Given the description of an element on the screen output the (x, y) to click on. 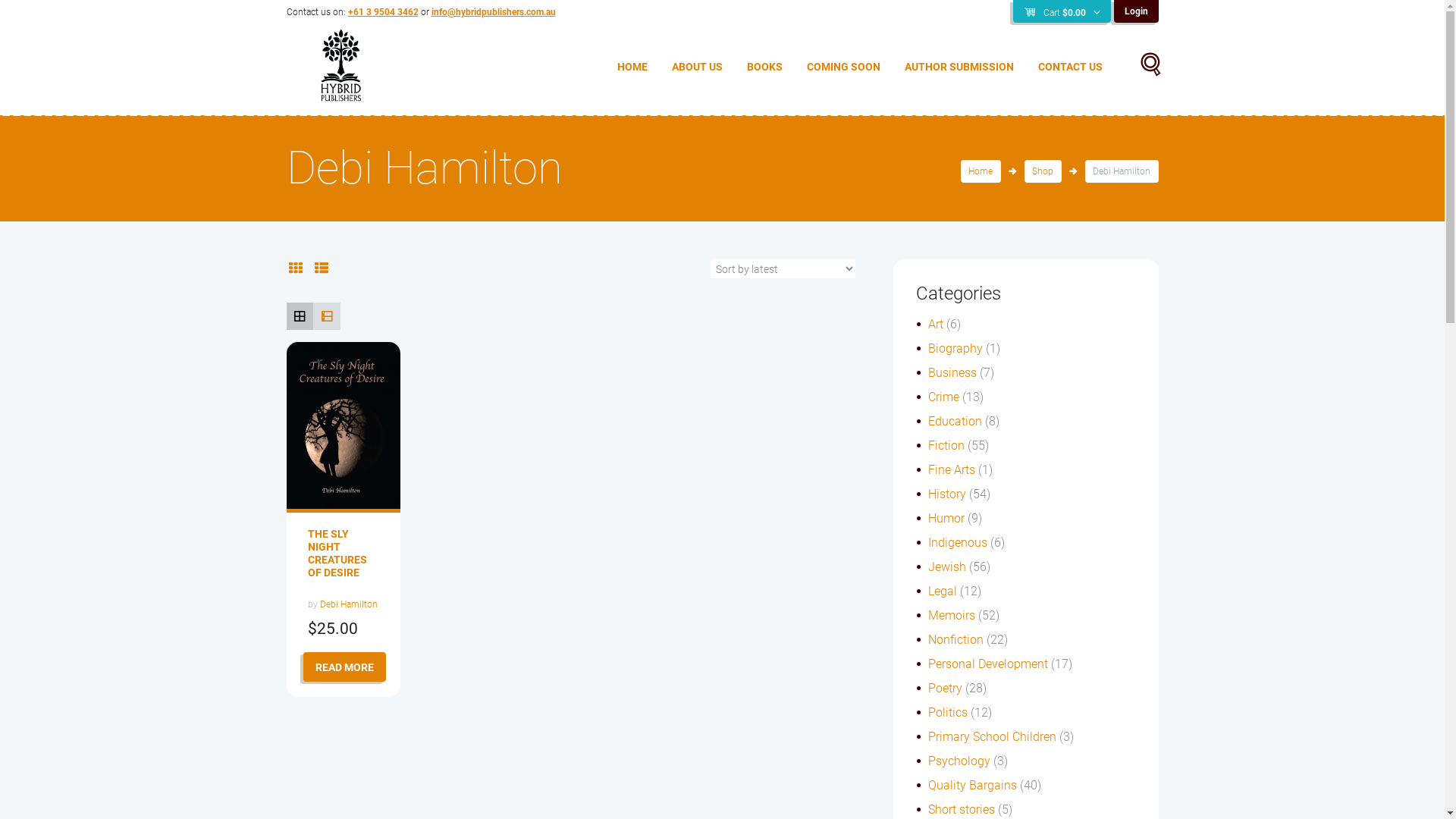
Psychology Element type: text (959, 760)
CONTACT US Element type: text (1069, 66)
Short stories Element type: text (961, 809)
Grid view Element type: hover (299, 315)
READ MORE Element type: text (344, 666)
Education Element type: text (955, 421)
Humor Element type: text (946, 518)
Biography Element type: text (955, 348)
Login Element type: text (1135, 11)
Debi Hamilton Element type: text (348, 604)
Fiction Element type: text (946, 445)
Show products as thumbs Element type: hover (295, 268)
+61 3 9504 3462 Element type: text (382, 11)
BOOKS Element type: text (763, 66)
HOME Element type: text (632, 66)
History Element type: text (947, 493)
info@hybridpublishers.com.au Element type: text (492, 11)
Politics Element type: text (947, 712)
ABOUT US Element type: text (697, 66)
Home Element type: text (980, 171)
Nonfiction Element type: text (955, 639)
Poetry Element type: text (945, 687)
Crime Element type: text (943, 396)
Open/close search form Element type: hover (1141, 65)
Business Element type: text (952, 372)
Quality Bargains Element type: text (972, 785)
Show products as list Element type: hover (321, 268)
Fine Arts Element type: text (951, 469)
Legal Element type: text (942, 590)
Cart $0.00 Element type: text (1061, 12)
List view Element type: hover (326, 315)
Primary School Children Element type: text (992, 736)
THE SLY NIGHT CREATURES OF DESIRE Element type: text (337, 553)
Memoirs Element type: text (951, 615)
Personal Development Element type: text (988, 663)
COMING SOON Element type: text (843, 66)
AUTHOR SUBMISSION Element type: text (958, 66)
Jewish Element type: text (947, 566)
Shop Element type: text (1042, 171)
Indigenous Element type: text (957, 542)
Art Element type: text (935, 323)
